Given the description of an element on the screen output the (x, y) to click on. 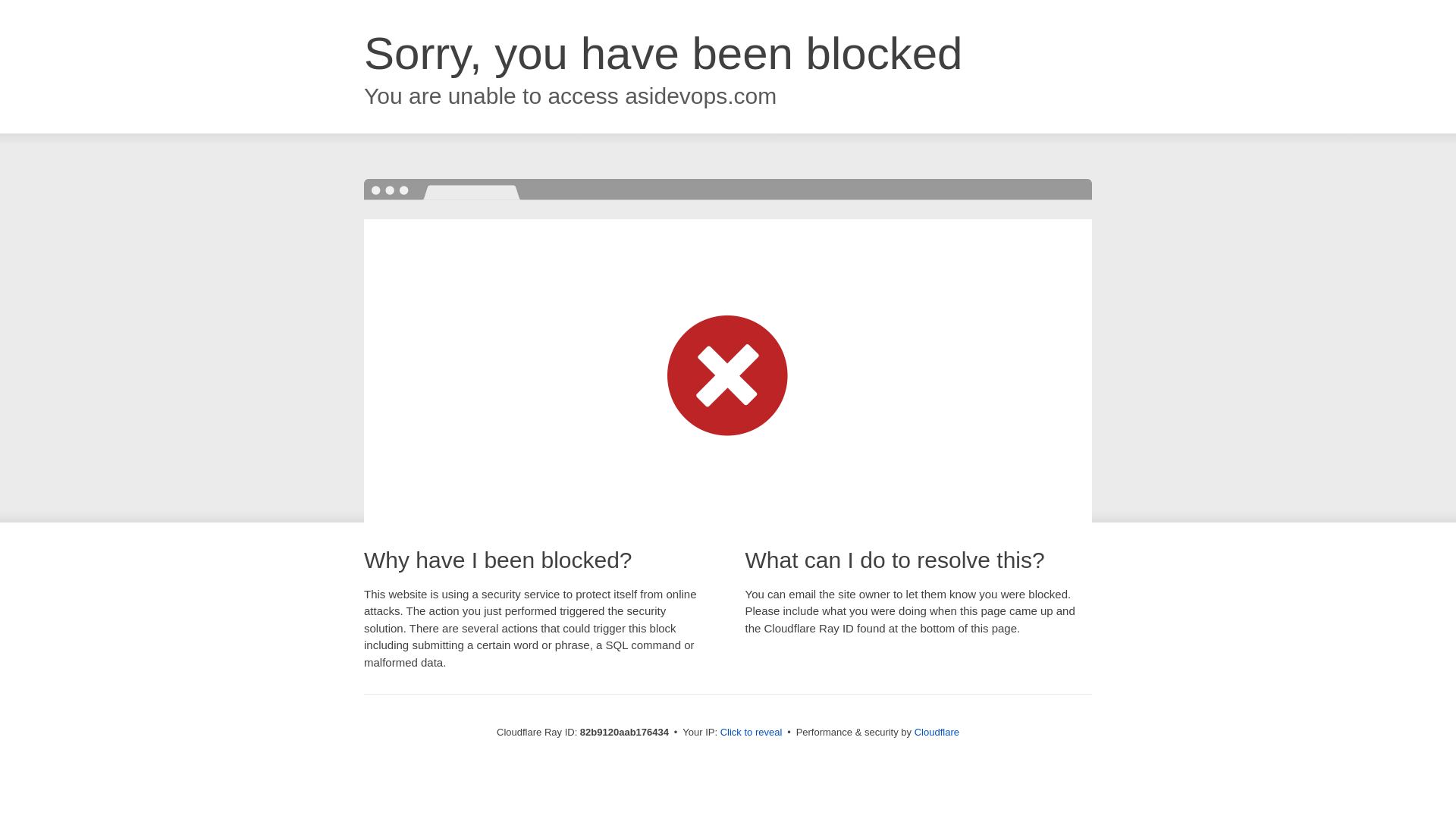
Cloudflare Element type: text (936, 731)
Click to reveal Element type: text (751, 732)
